Given the description of an element on the screen output the (x, y) to click on. 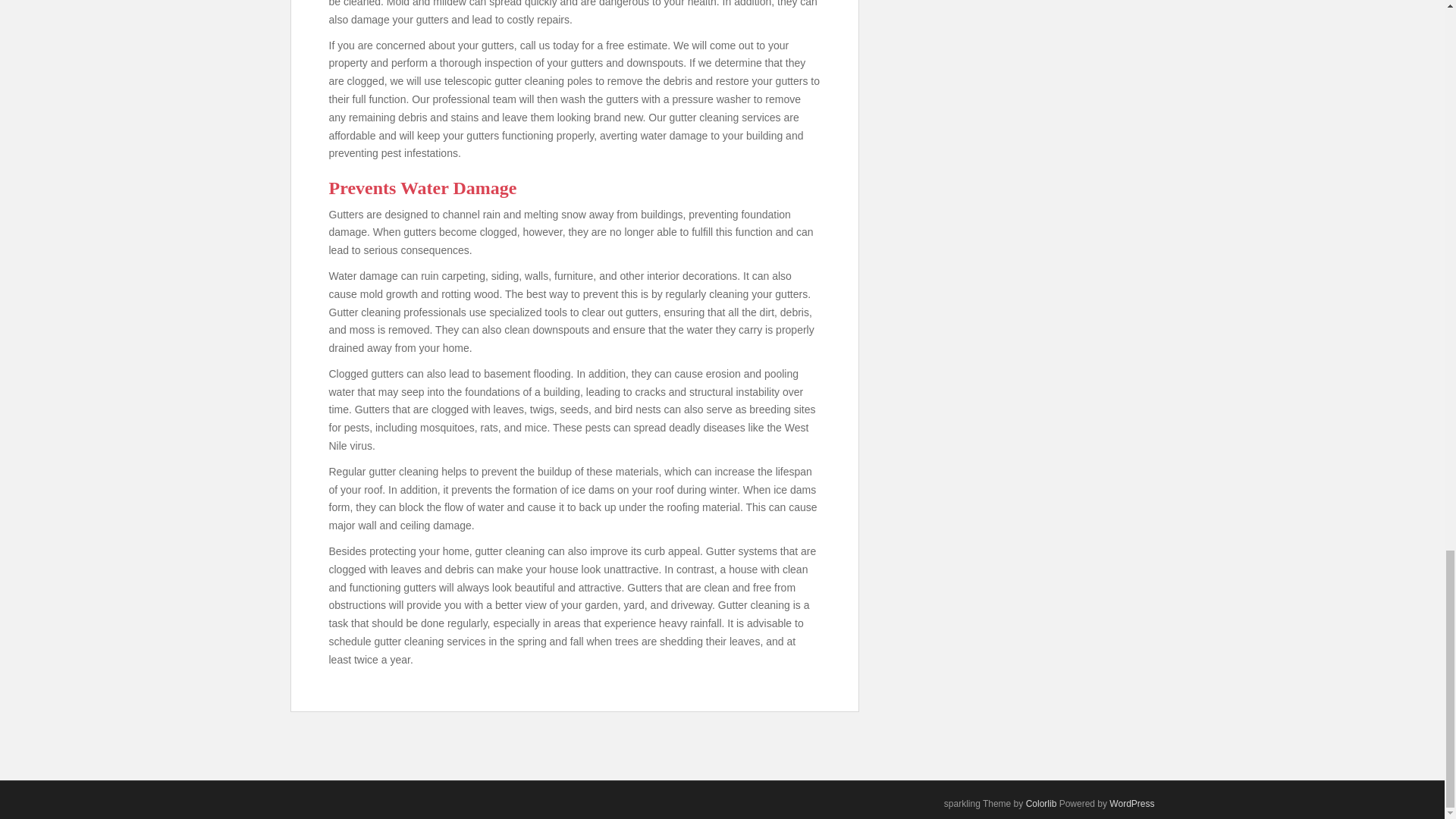
WordPress (1131, 803)
Colorlib (1041, 803)
